Given the description of an element on the screen output the (x, y) to click on. 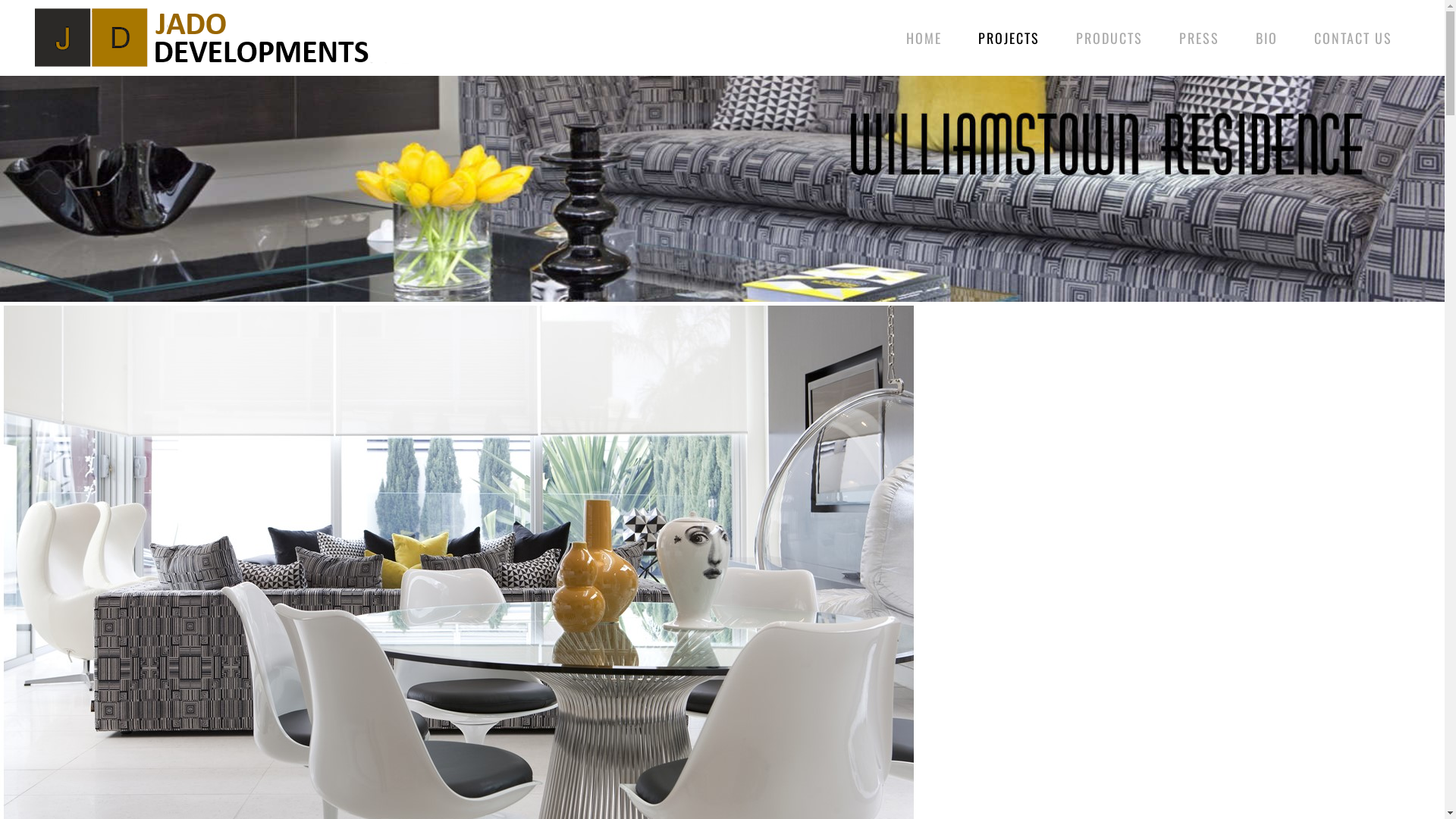
BIO Element type: text (1266, 37)
HOME Element type: text (924, 37)
PRODUCTS Element type: text (1109, 37)
CONTACT US Element type: text (1352, 37)
PRESS Element type: text (1199, 37)
PROJECTS Element type: text (1008, 37)
